Given the description of an element on the screen output the (x, y) to click on. 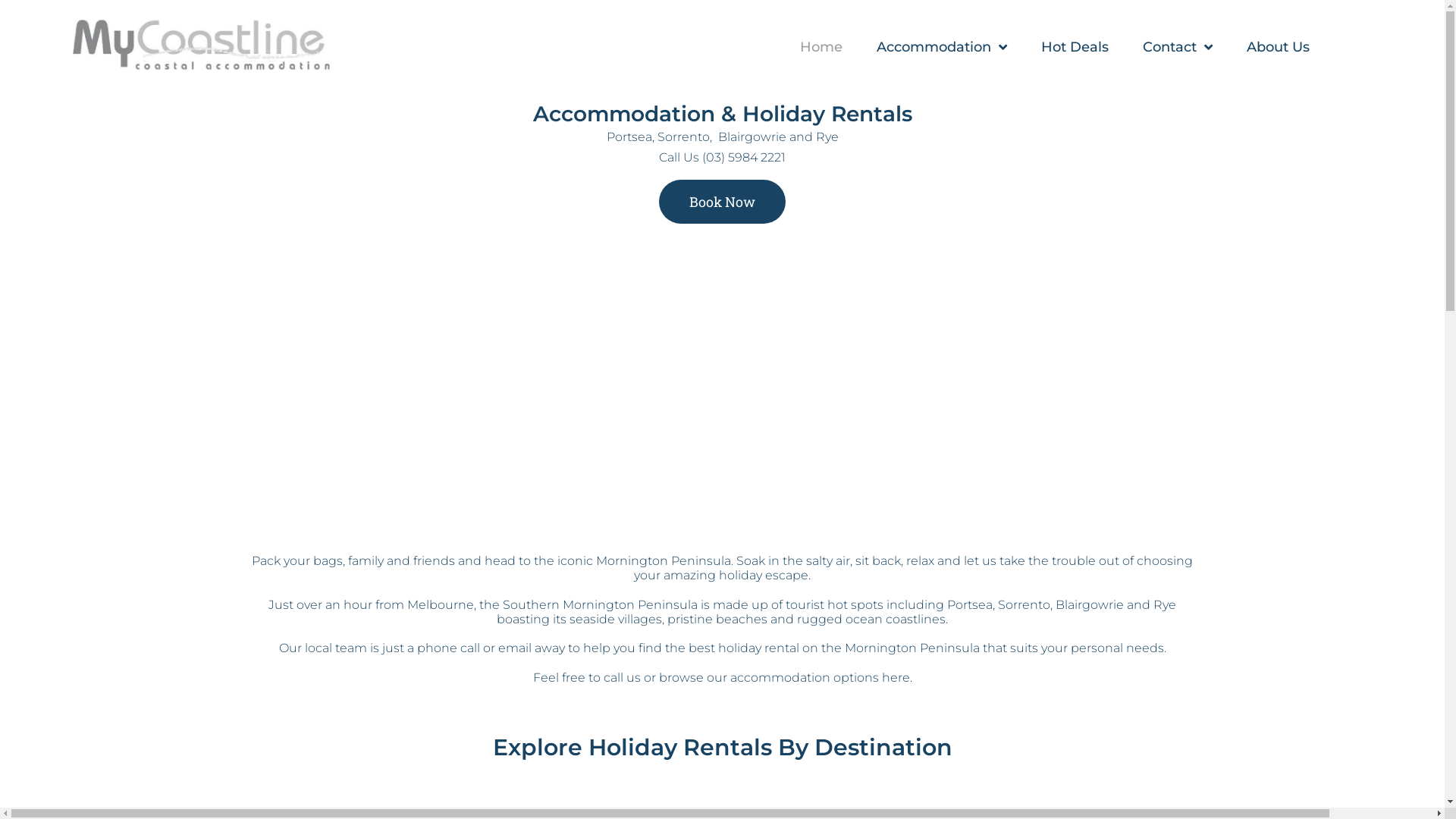
Hot Deals Element type: text (1074, 47)
About Us Element type: text (1277, 47)
Contact Element type: text (1177, 47)
Book Now Element type: text (721, 201)
Accommodation Element type: text (941, 47)
Home Element type: text (820, 47)
